Given the description of an element on the screen output the (x, y) to click on. 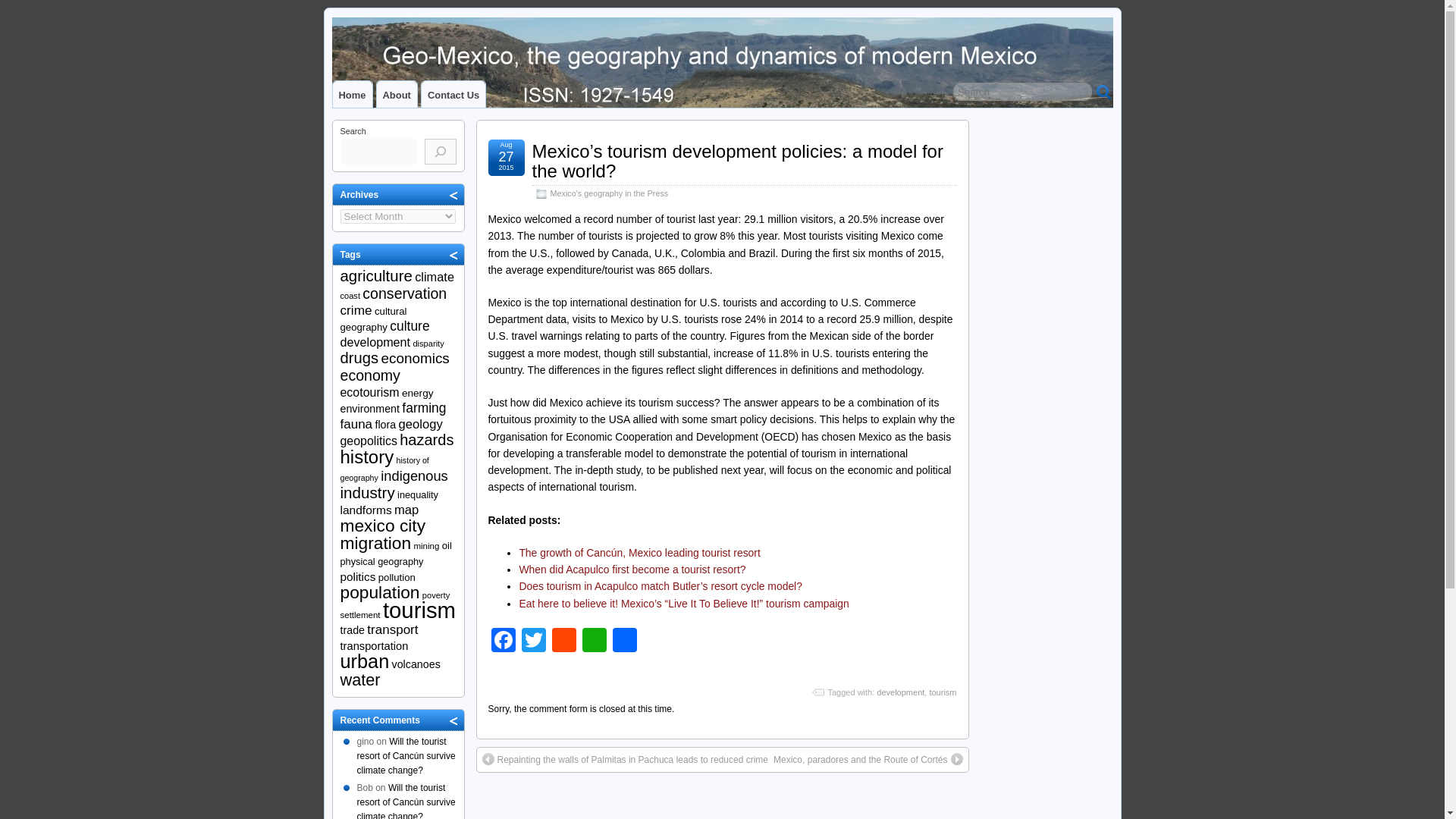
development (900, 691)
energy (417, 392)
Facebook (502, 642)
economics (414, 358)
environment (368, 408)
Twitter (533, 642)
climate (434, 276)
tourism (942, 691)
cultural geography (372, 318)
WhatsApp (594, 642)
click to close this box (453, 194)
Mexico's geography in the Press (609, 193)
click-down and drag to move this box (397, 254)
Home (351, 94)
